Given the description of an element on the screen output the (x, y) to click on. 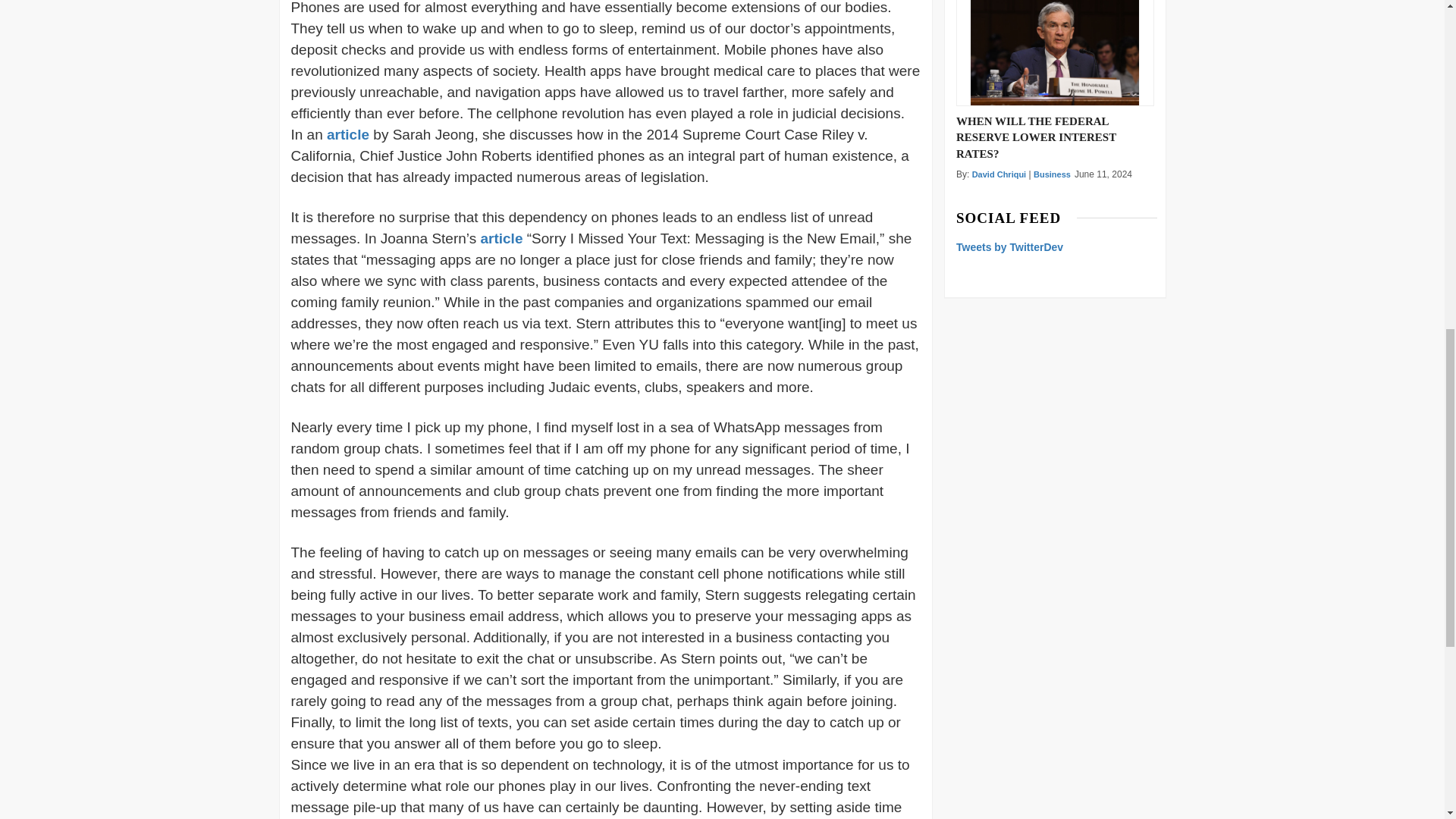
When Will The Federal Reserve Lower Interest Rates? (1054, 52)
article (502, 238)
article (347, 134)
